Given the description of an element on the screen output the (x, y) to click on. 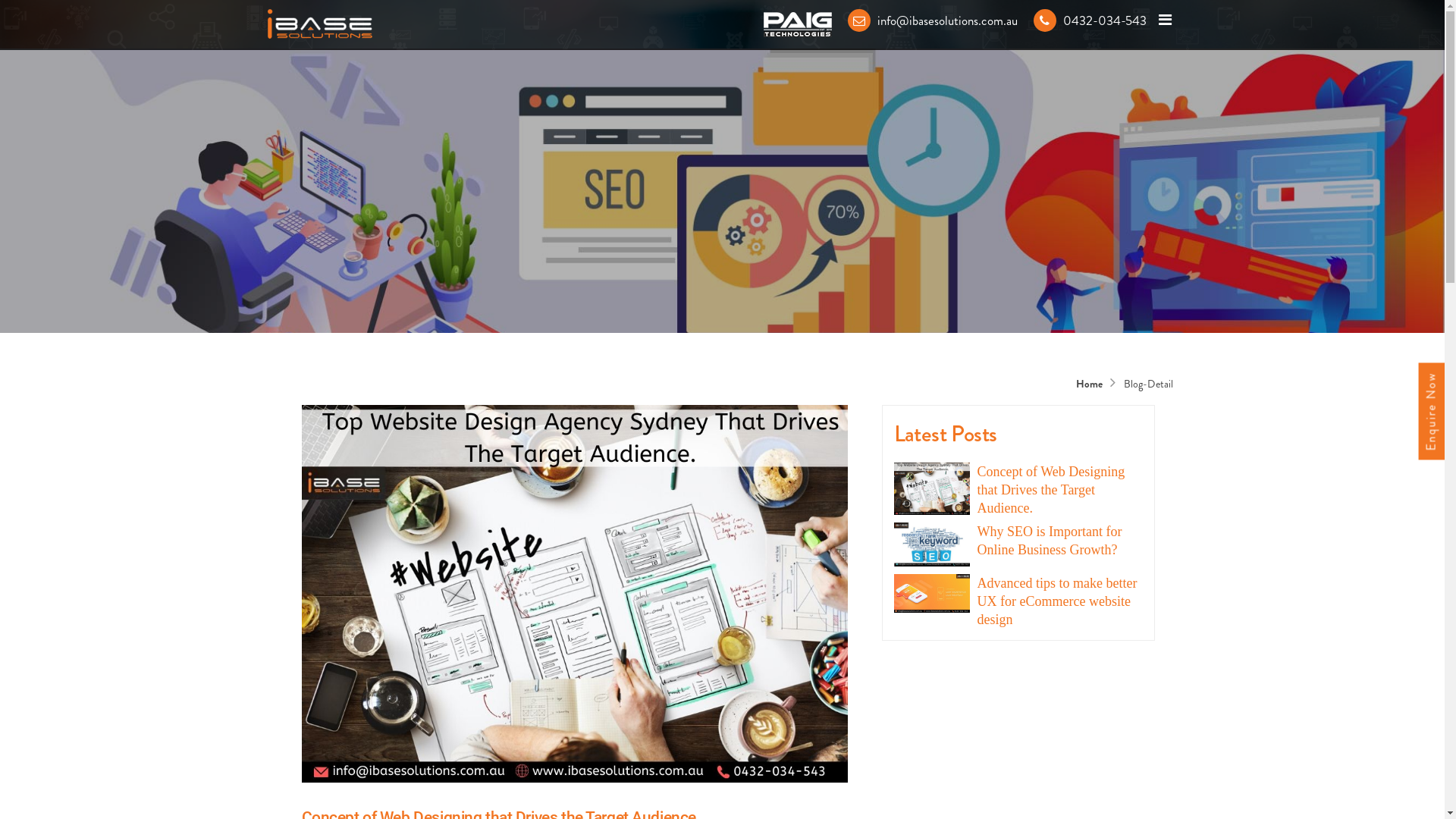
Why SEO is Important for Online Business Growth? Element type: text (1059, 540)
Home Element type: text (1089, 383)
0432-034-543 Element type: text (1087, 20)
Advanced tips to make better UX for eCommerce website design Element type: text (1059, 601)
Concept of Web Designing that Drives the Target Audience. Element type: text (1059, 489)
info@ibasesolutions.com.au Element type: text (929, 20)
